Given the description of an element on the screen output the (x, y) to click on. 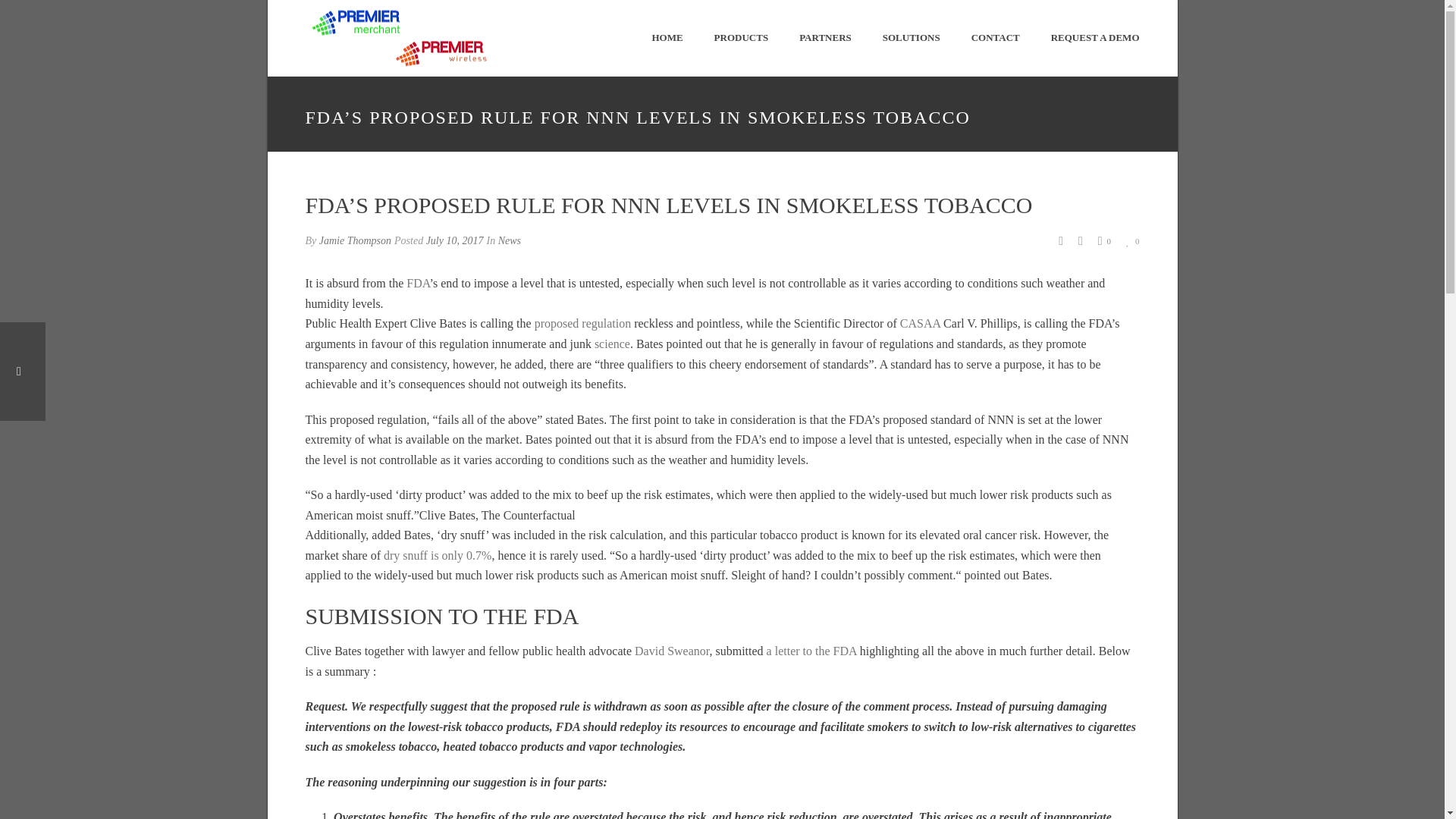
Jamie Thompson (354, 240)
CASAA (919, 323)
July 10, 2017 (454, 240)
Posts by Jamie Thompson (354, 240)
a letter to the FDA (812, 650)
FDA (417, 282)
REQUEST A DEMO (1094, 38)
SOLUTIONS (911, 38)
News (509, 240)
David Sweanor (671, 650)
  0 (1132, 239)
PARTNERS (825, 38)
Vaping science and studies (612, 343)
Products (741, 38)
CONTACT (995, 38)
